Given the description of an element on the screen output the (x, y) to click on. 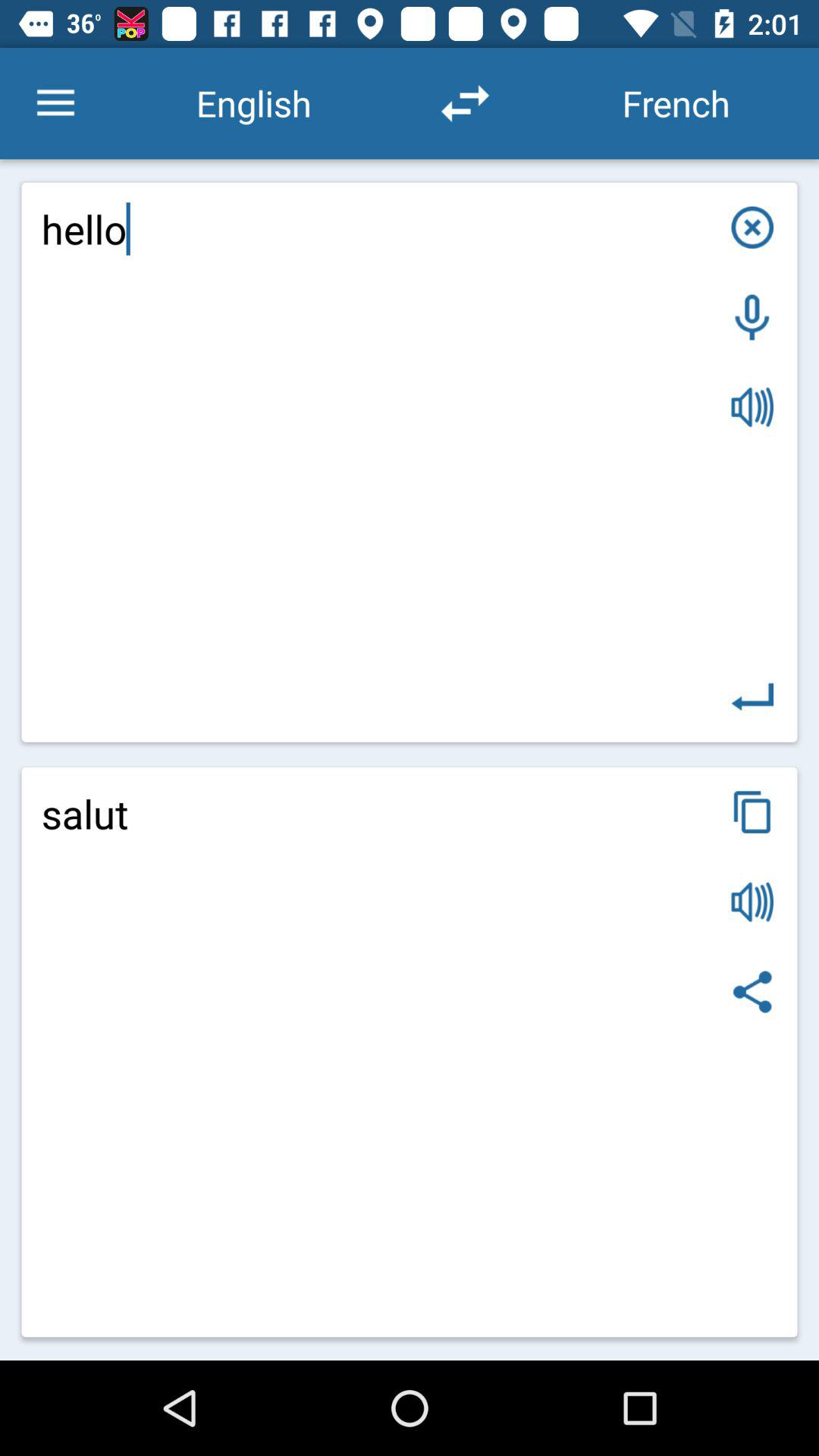
choose icon above the salut (752, 697)
